Given the description of an element on the screen output the (x, y) to click on. 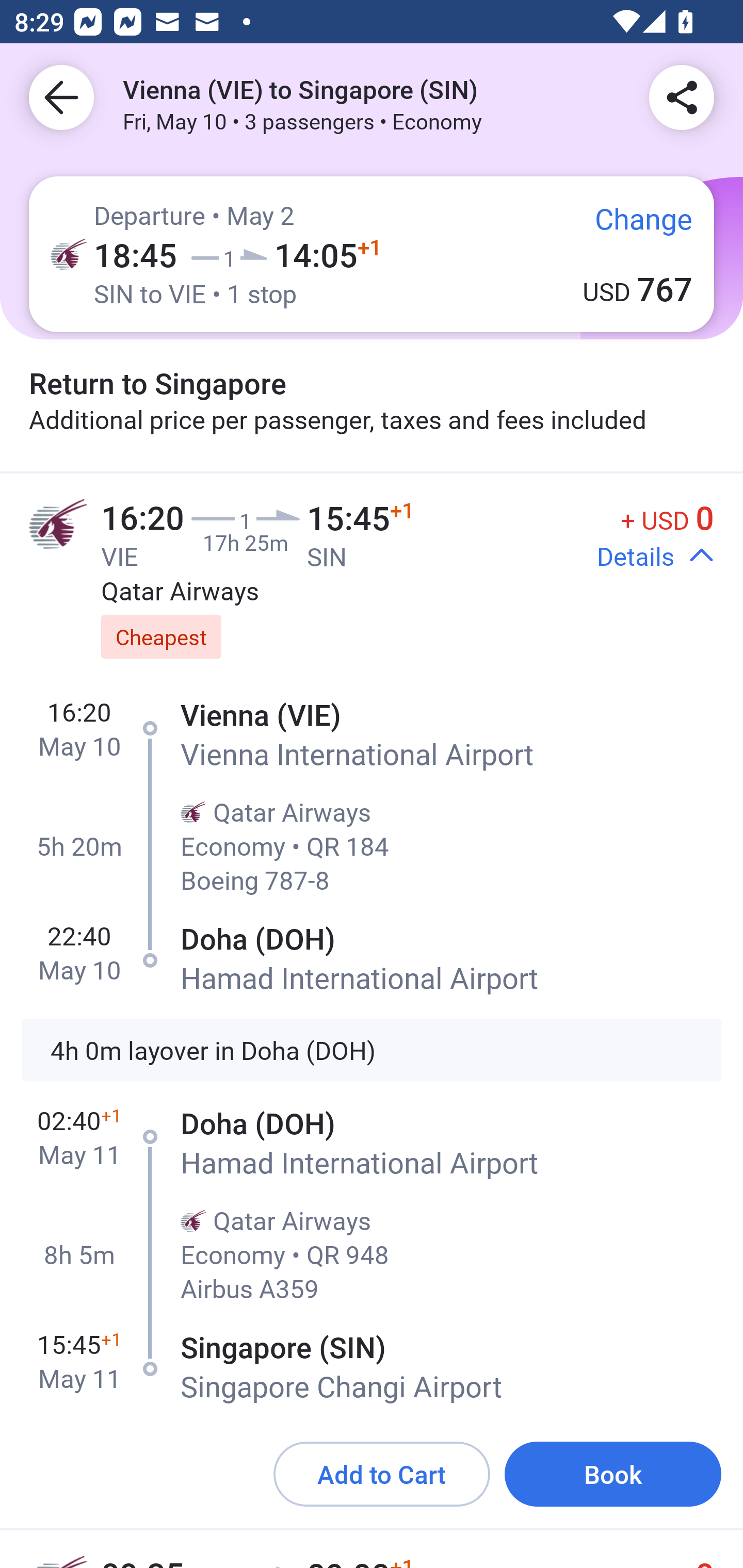
Change (629, 228)
Add to Cart (381, 1473)
Book (612, 1473)
